Given the description of an element on the screen output the (x, y) to click on. 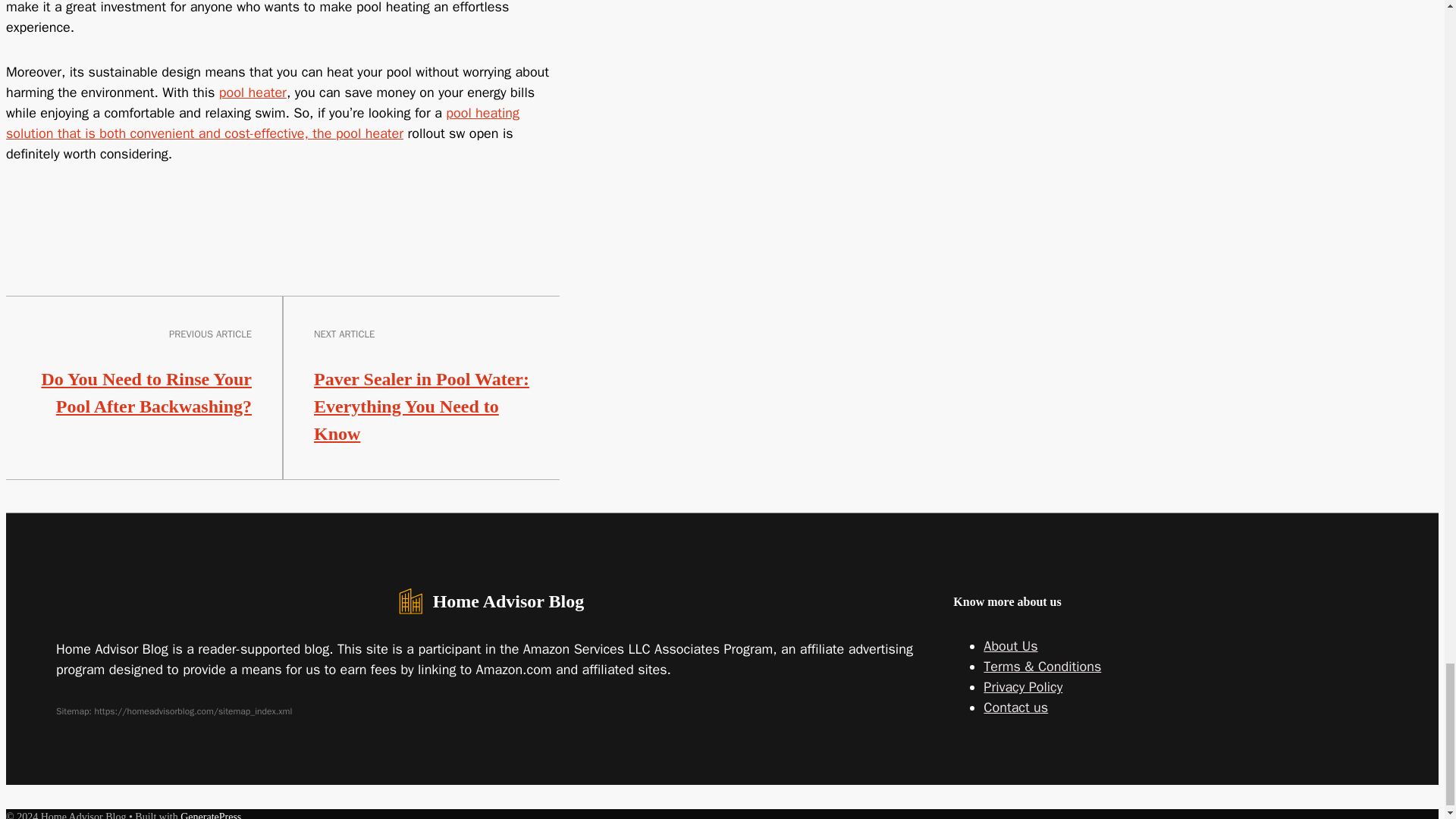
pool heater (252, 92)
